Given the description of an element on the screen output the (x, y) to click on. 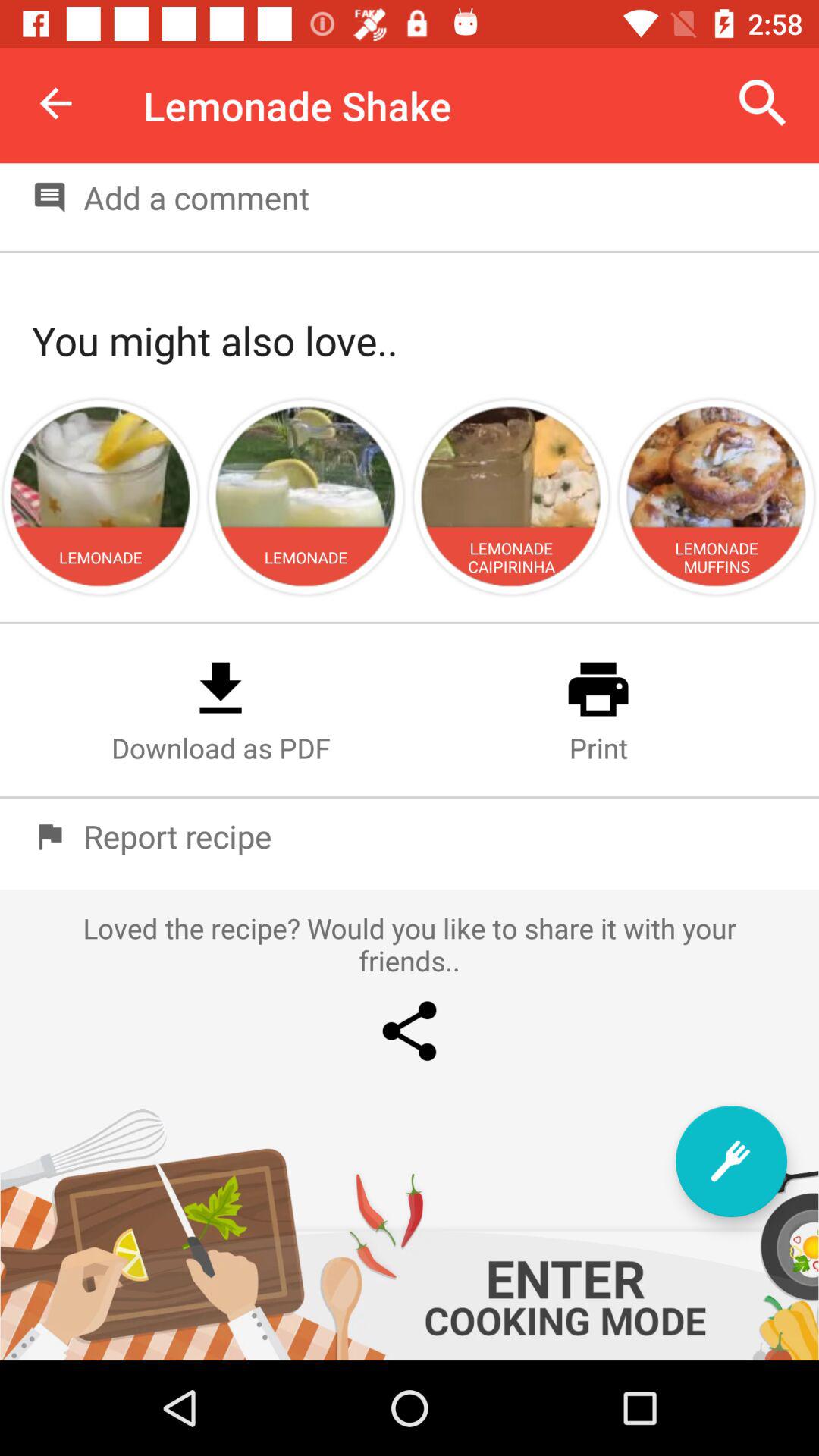
turn on the item below loved the recipe (731, 1161)
